Given the description of an element on the screen output the (x, y) to click on. 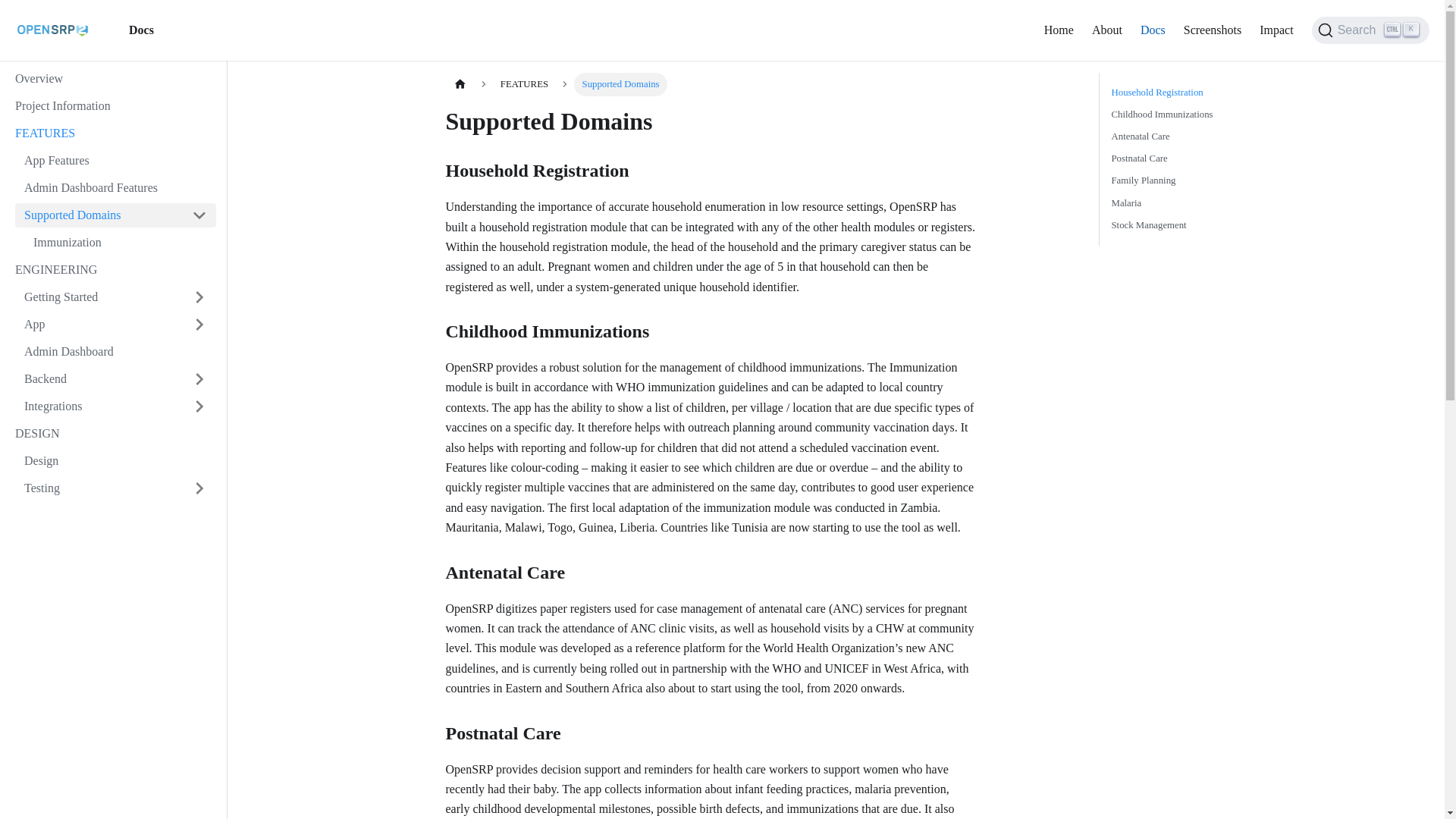
ENGINEERING (110, 269)
Immunization (119, 242)
Overview (110, 78)
Docs (1152, 30)
Impact (1275, 30)
App (98, 324)
Screenshots (1212, 30)
Integrations (114, 405)
Backend (98, 378)
